Given the description of an element on the screen output the (x, y) to click on. 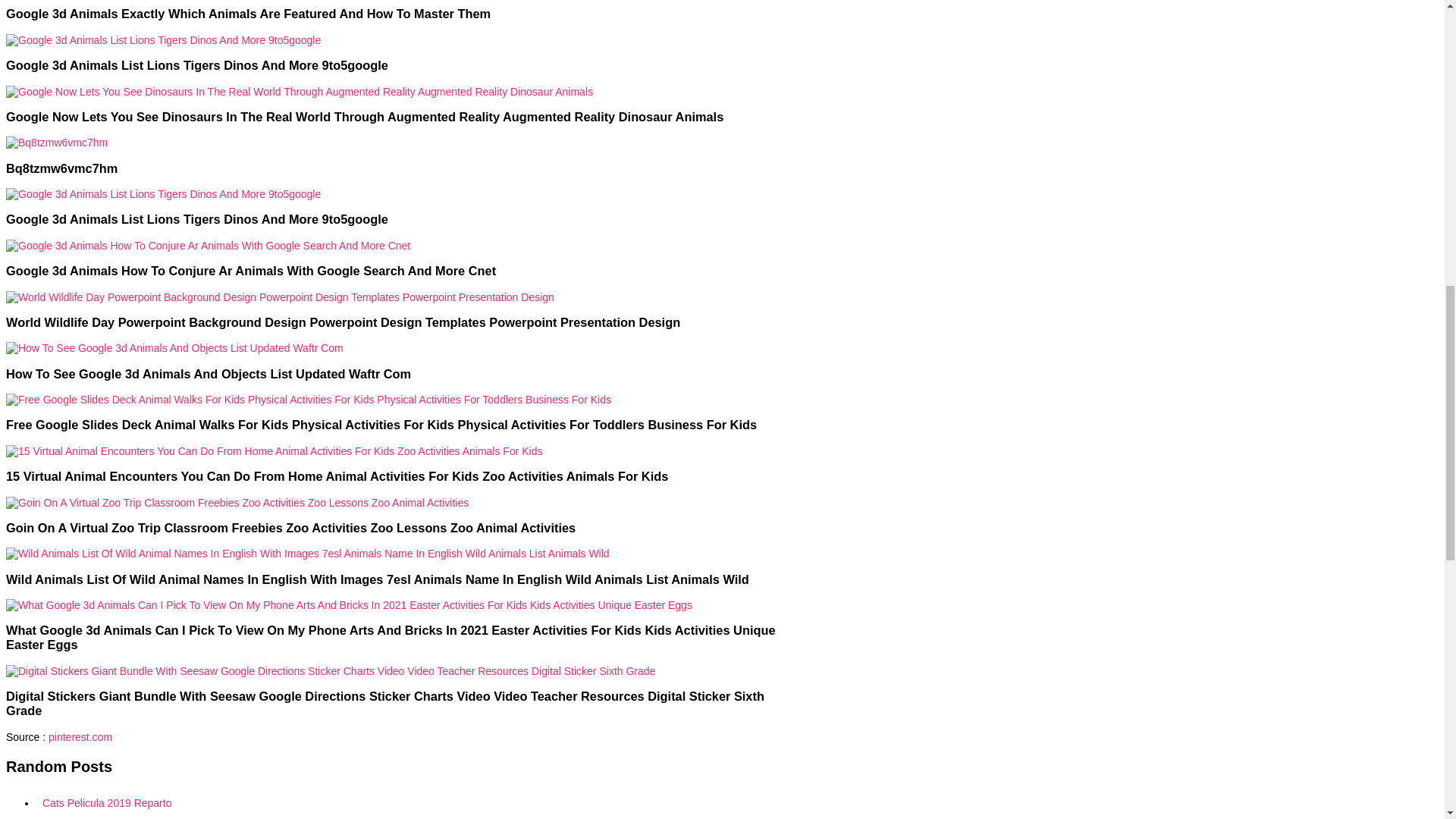
pinterest.com (80, 736)
Cats Pelicula 2019 Reparto (409, 802)
